Given the description of an element on the screen output the (x, y) to click on. 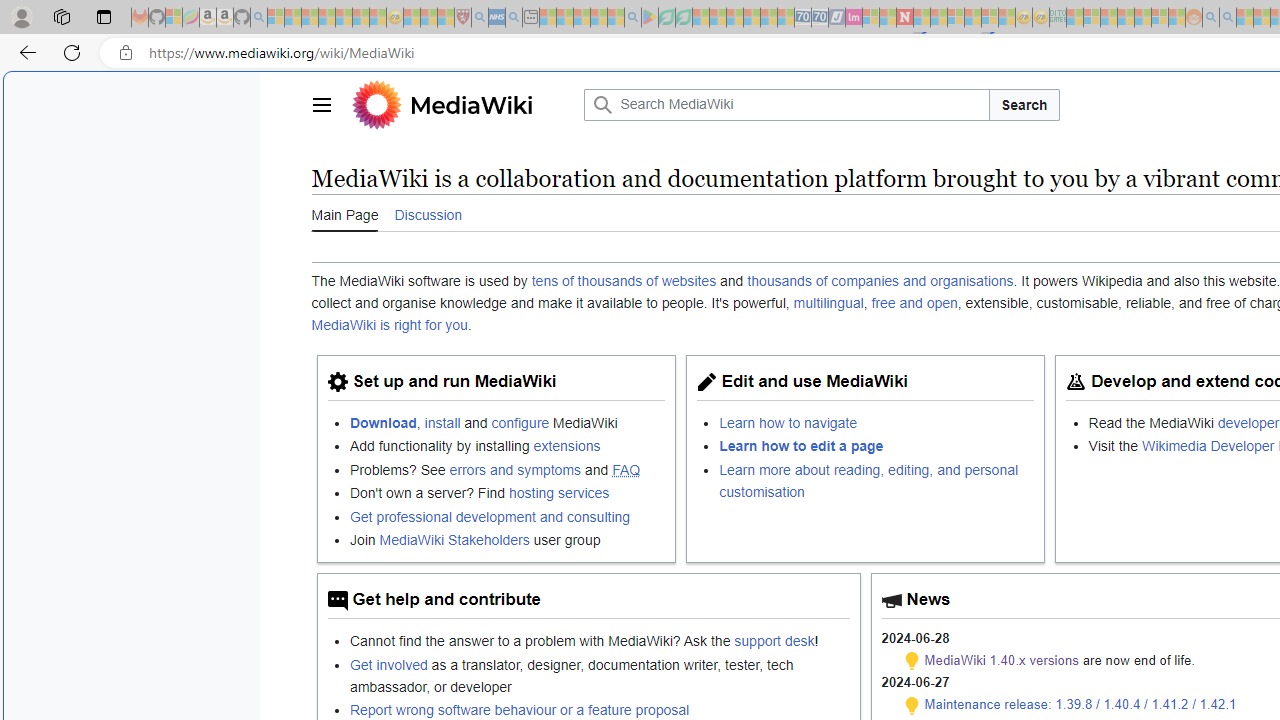
MediaWiki (461, 104)
thousands of companies and organisations (880, 281)
New tab - Sleeping (530, 17)
list of asthma inhalers uk - Search - Sleeping (479, 17)
Join MediaWiki Stakeholders user group (507, 538)
Download (383, 422)
Microsoft-Report a Concern to Bing - Sleeping (173, 17)
DITOGAMES AG Imprint - Sleeping (1057, 17)
MSNBC - MSN - Sleeping (1074, 17)
